Given the description of an element on the screen output the (x, y) to click on. 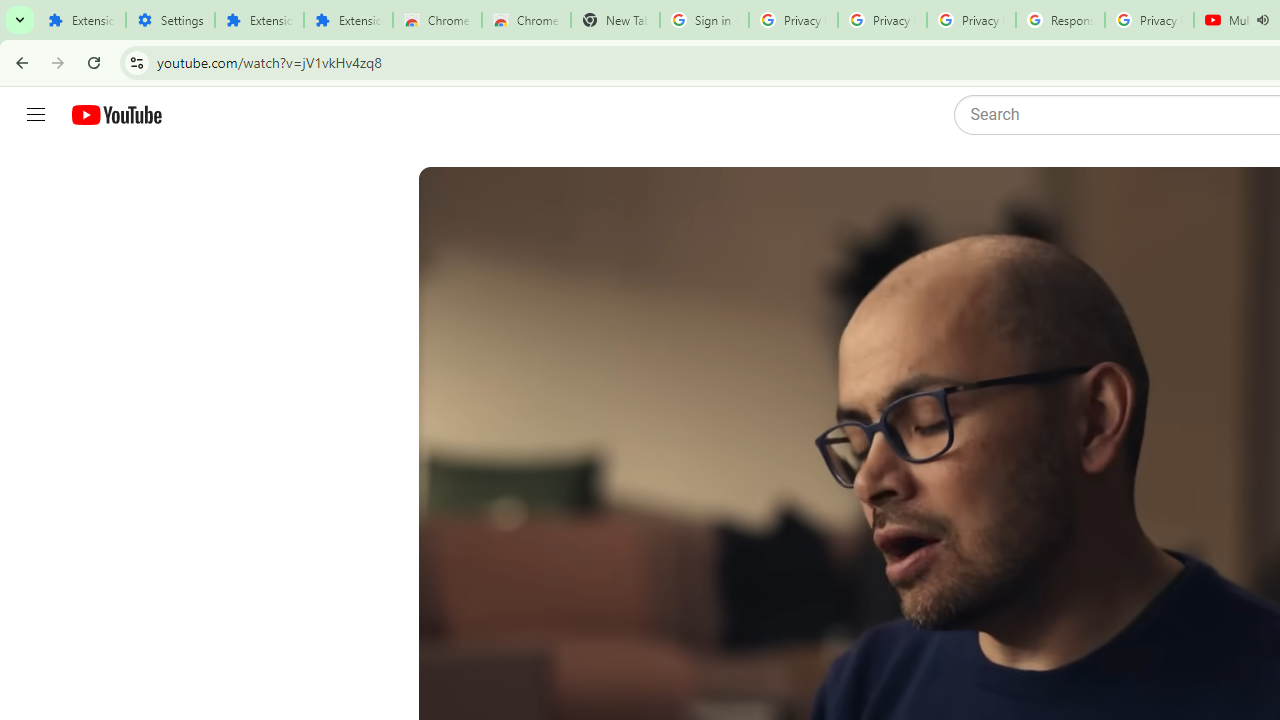
Guide (35, 115)
Chrome Web Store - Themes (526, 20)
Chrome Web Store (437, 20)
Extensions (347, 20)
